Given the description of an element on the screen output the (x, y) to click on. 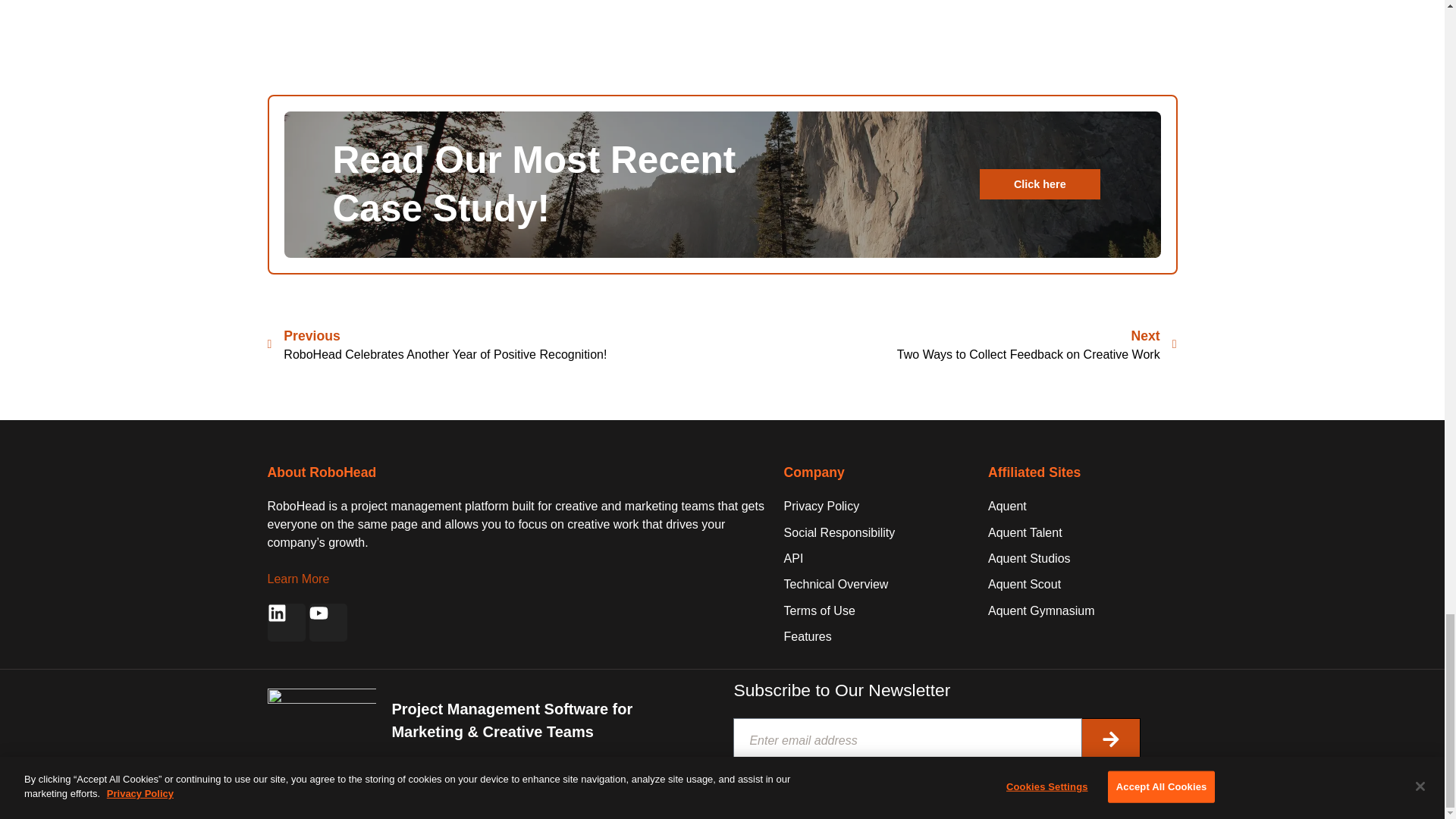
Click here (949, 344)
About RoboHead (1039, 183)
Learn More (320, 472)
